Given the description of an element on the screen output the (x, y) to click on. 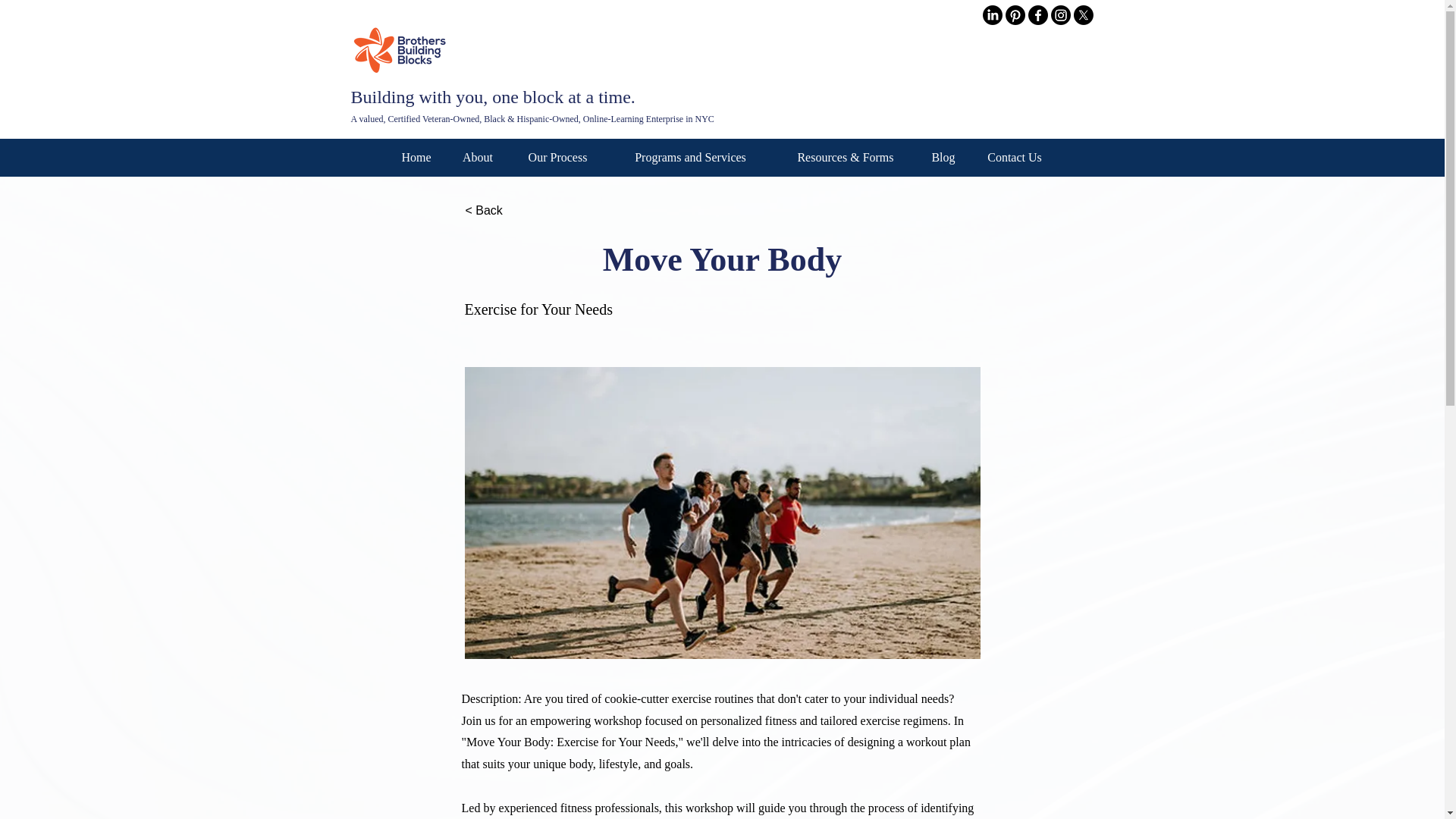
Blog (943, 157)
Home (415, 157)
Our Process (557, 157)
About (477, 157)
Contact Us (1014, 157)
